Given the description of an element on the screen output the (x, y) to click on. 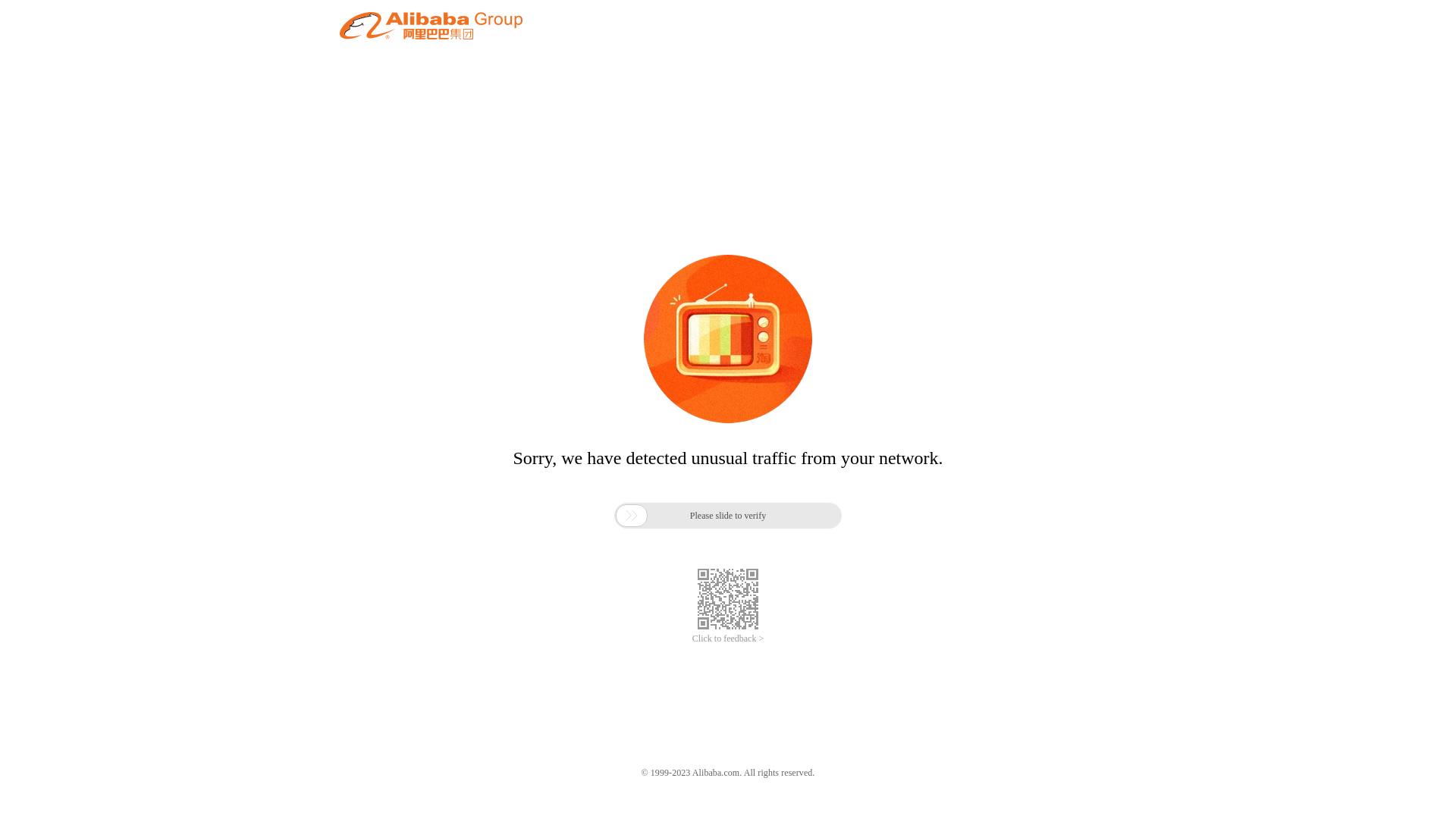
Click to feedback > Element type: text (727, 638)
